Given the description of an element on the screen output the (x, y) to click on. 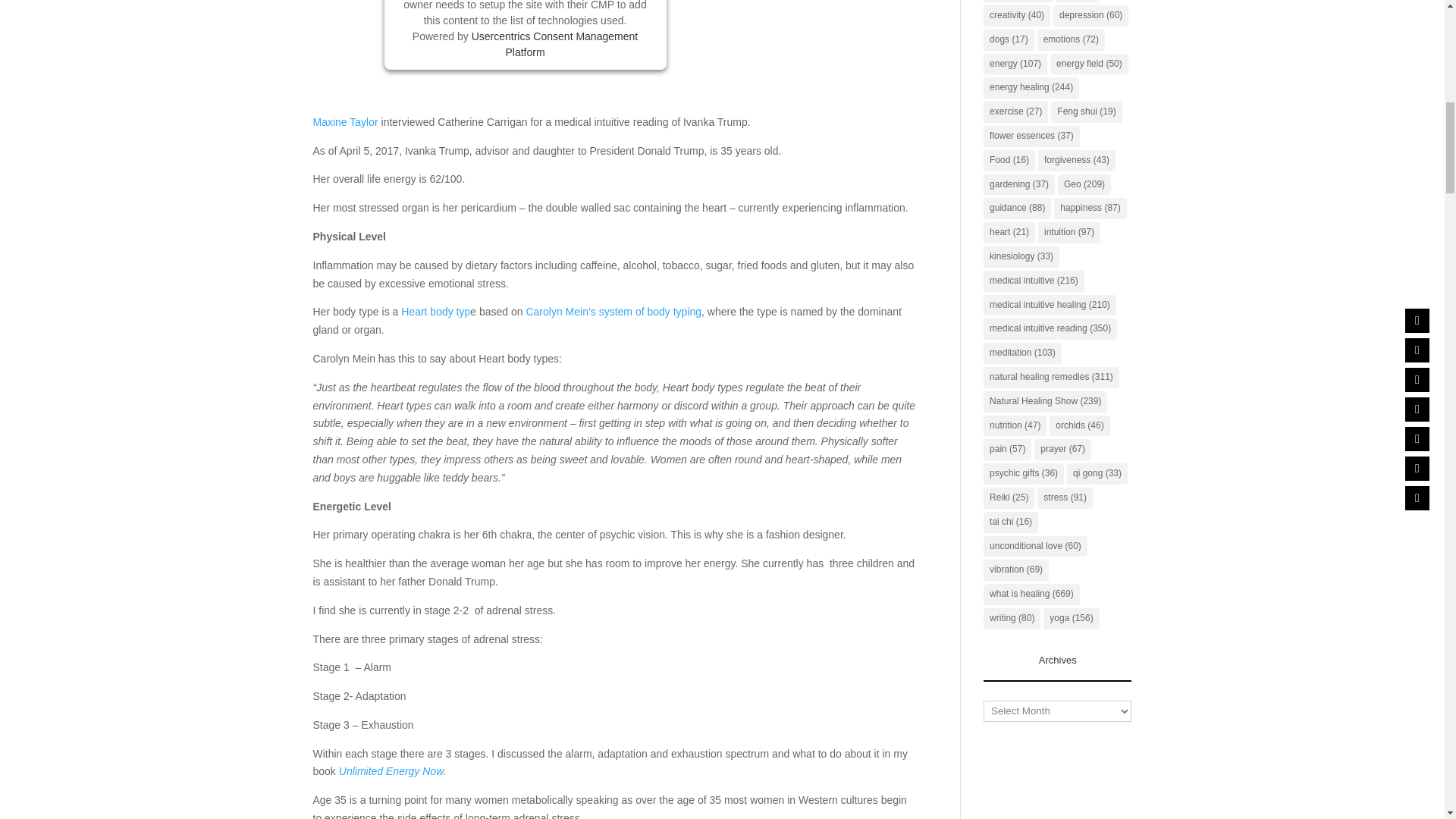
Unlimited Energy Now. (392, 770)
Maxine Taylor (345, 121)
Heart body typ (435, 311)
Usercentrics Consent Management Platform (554, 44)
